Given the description of an element on the screen output the (x, y) to click on. 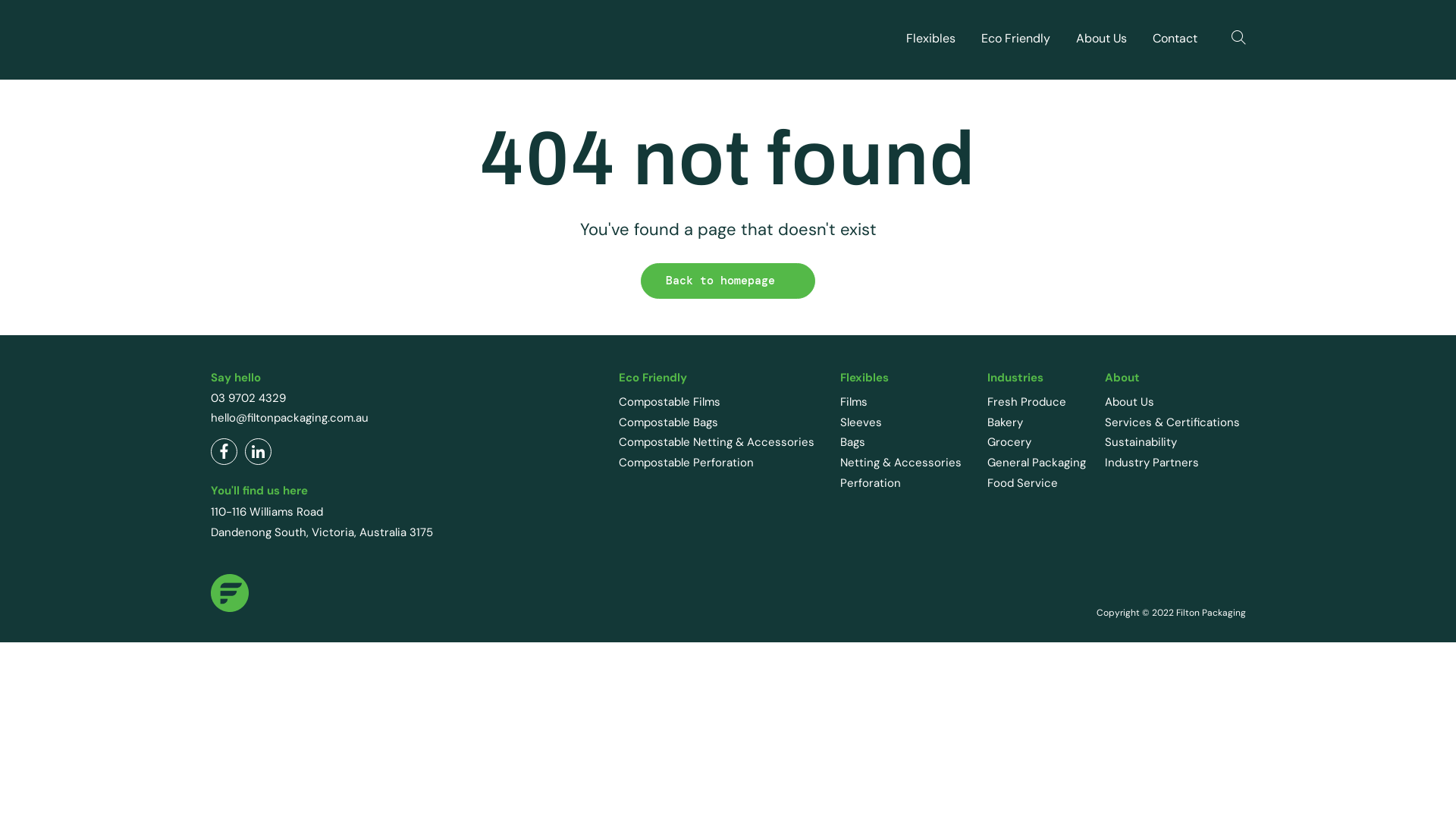
Flexibles Element type: text (929, 38)
hello@filtonpackaging.com.au Element type: text (289, 417)
Sleeves Element type: text (860, 421)
Grocery Element type: text (1009, 441)
About Us Element type: text (1129, 401)
Films Element type: text (853, 401)
Industry Partners Element type: text (1151, 462)
Compostable Bags Element type: text (668, 421)
Fresh Produce Element type: text (1026, 401)
Eco Friendly Element type: text (1015, 38)
Services & Certifications Element type: text (1171, 421)
Bakery Element type: text (1004, 421)
General Packaging Element type: text (1036, 462)
Netting & Accessories Element type: text (900, 462)
Perforation Element type: text (870, 482)
About Us Element type: text (1100, 38)
Sustainability Element type: text (1140, 441)
Compostable Films Element type: text (669, 401)
Contact Element type: text (1174, 38)
Bags Element type: text (852, 441)
Food Service Element type: text (1022, 482)
Compostable Perforation Element type: text (685, 462)
Back to homepage Element type: text (727, 280)
03 9702 4329 Element type: text (247, 397)
Compostable Netting & Accessories Element type: text (716, 441)
